Given the description of an element on the screen output the (x, y) to click on. 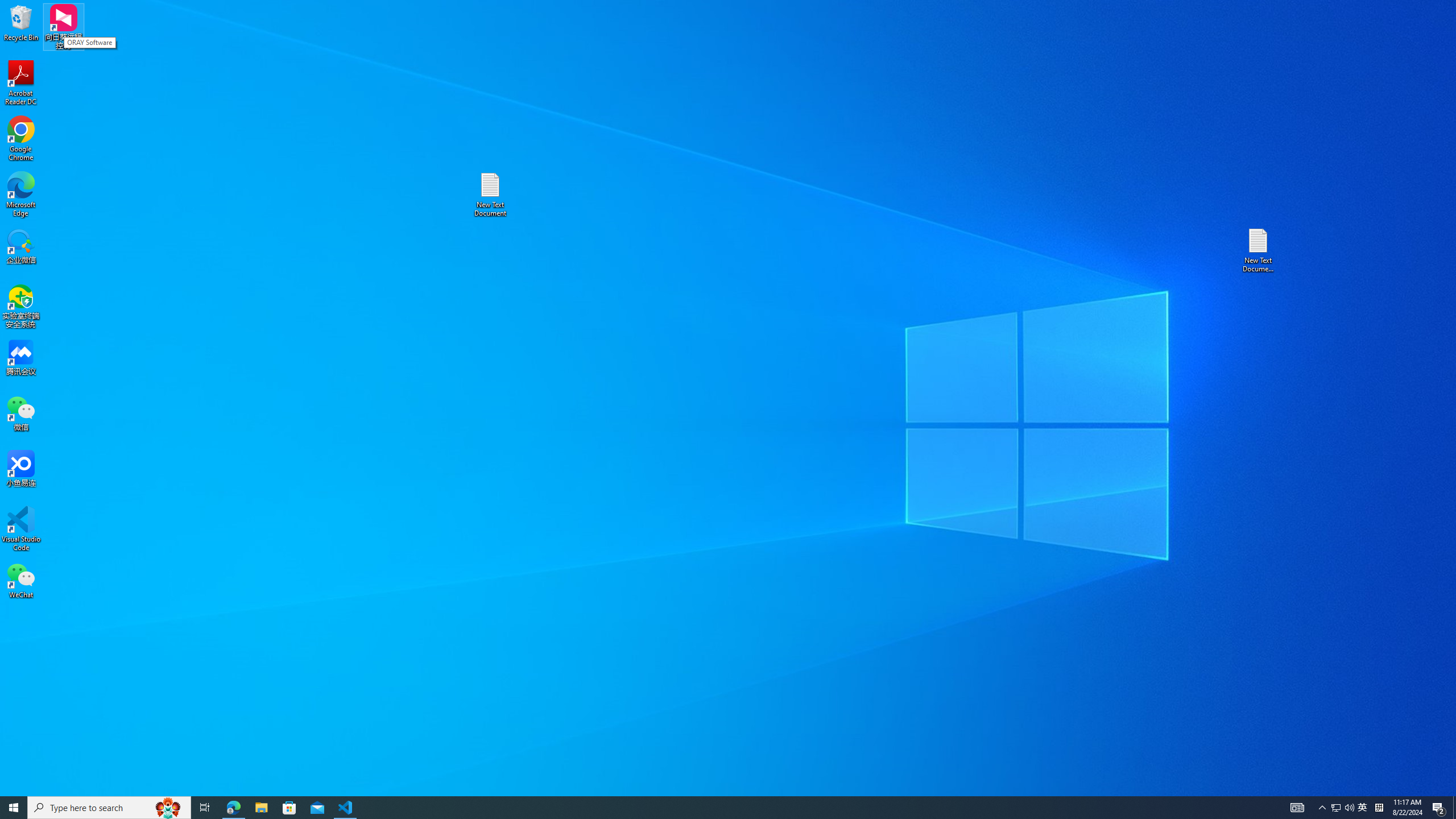
WeChat (21, 580)
Google Chrome (21, 138)
New Text Document (2) (1258, 250)
Running applications (707, 807)
